Given the description of an element on the screen output the (x, y) to click on. 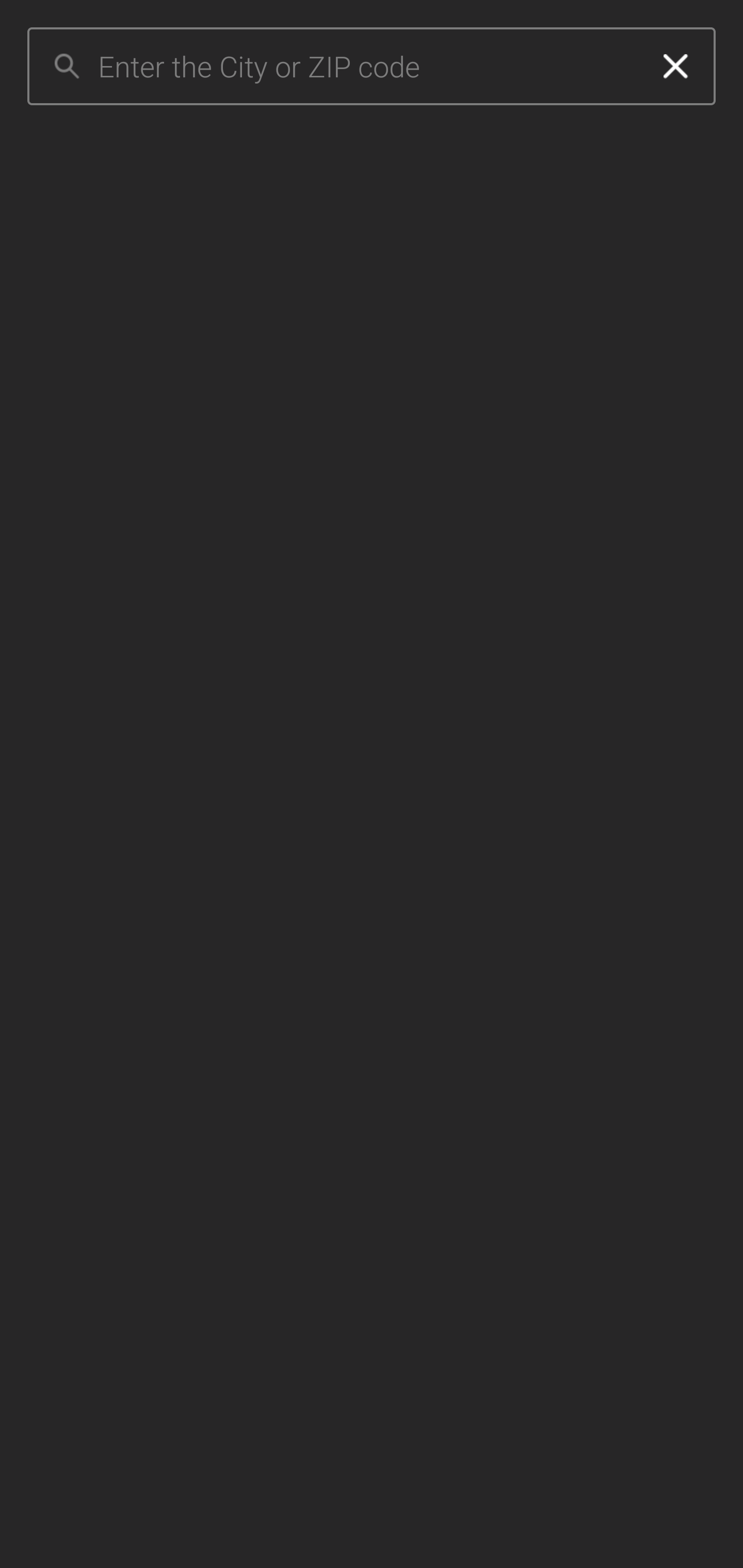
Enter the City or ZIP code (367, 66)
